Given the description of an element on the screen output the (x, y) to click on. 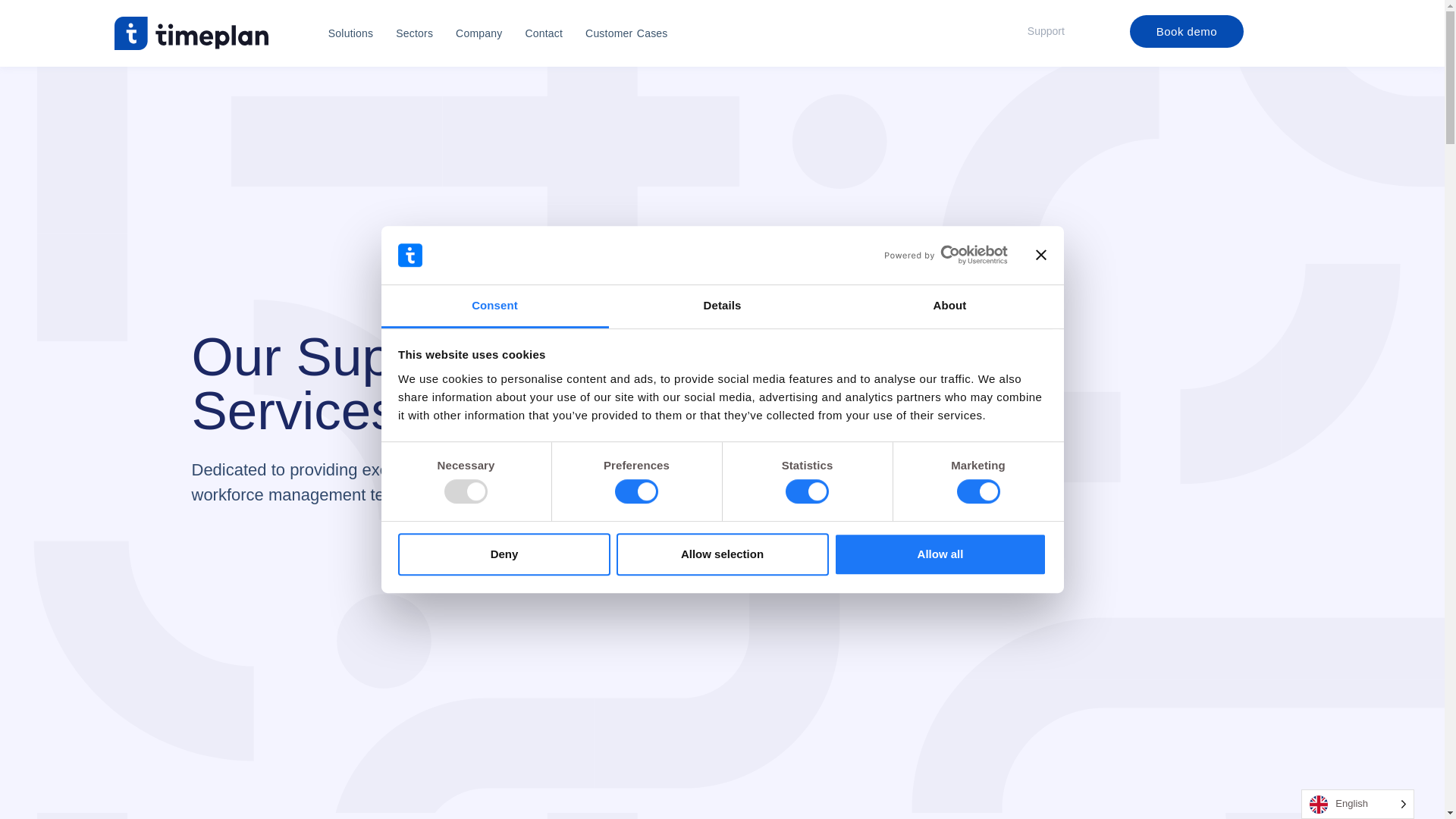
About (948, 306)
Consent (494, 306)
Details (721, 306)
